Given the description of an element on the screen output the (x, y) to click on. 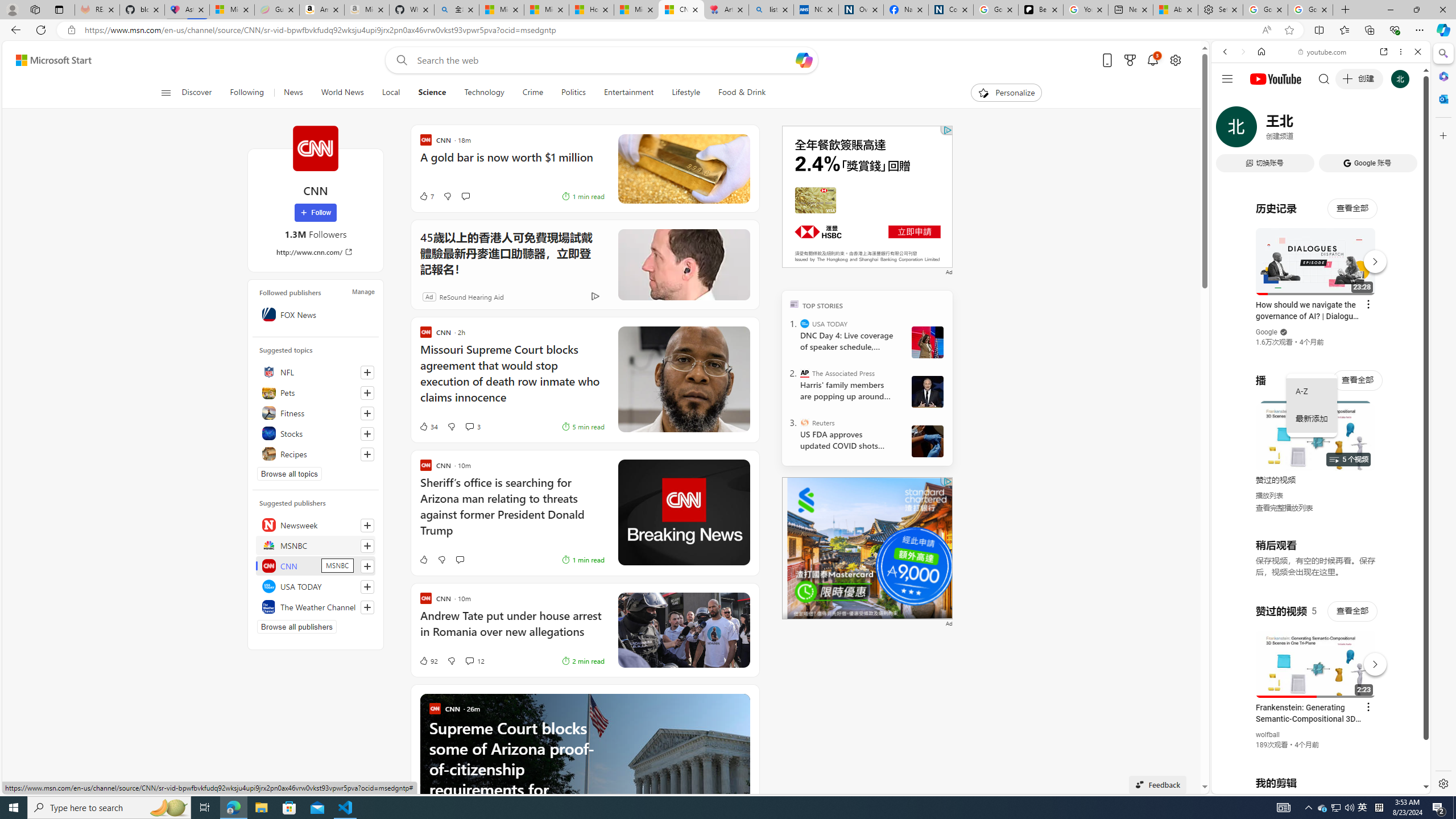
View comments 12 Comment (474, 661)
FOX News (315, 314)
Food & Drink (741, 92)
Follow this source (367, 607)
USA TODAY (804, 323)
Asthma Inhalers: Names and Types (187, 9)
